Given the description of an element on the screen output the (x, y) to click on. 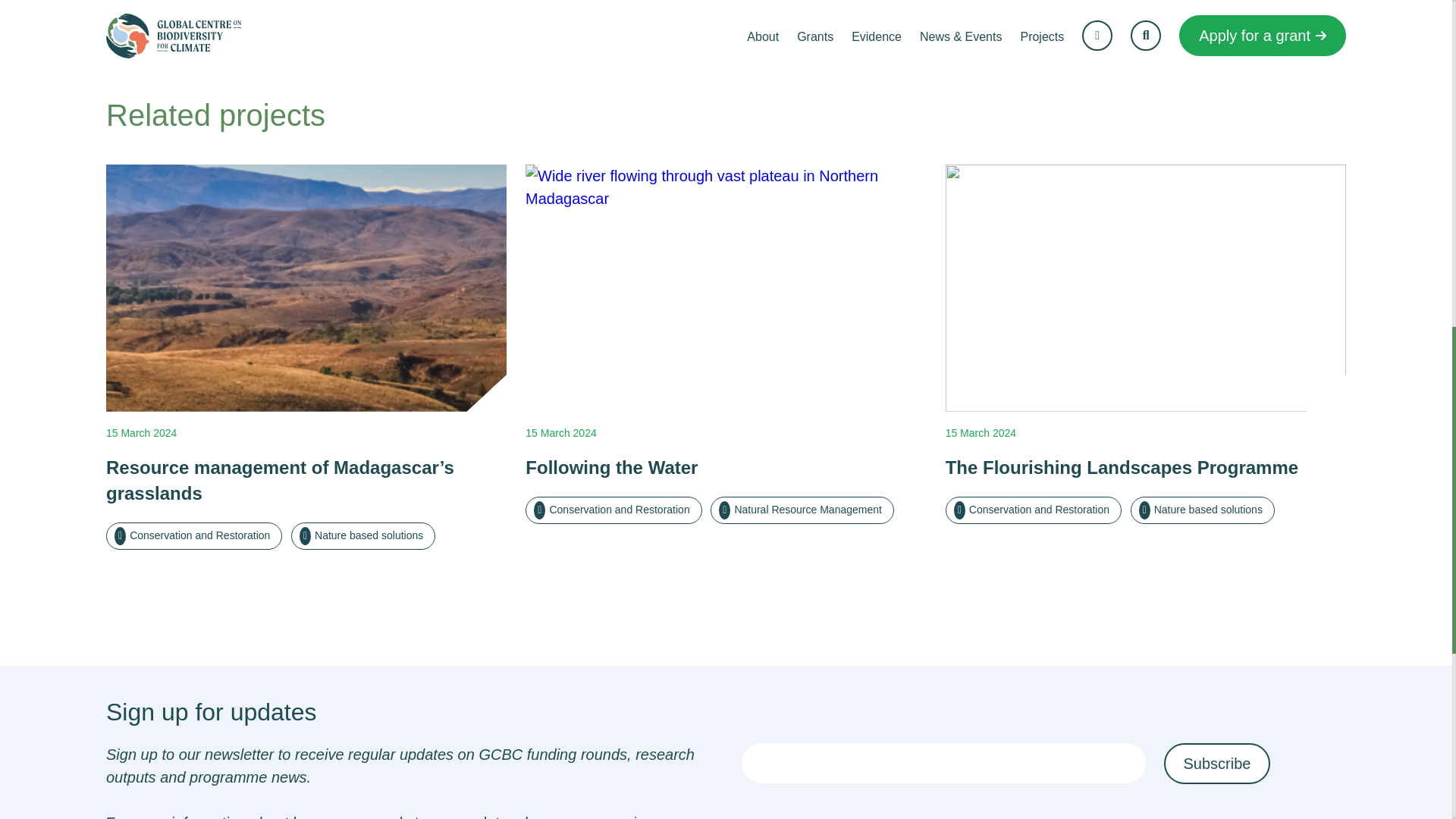
Following the Water (725, 467)
Conservation and Restoration (194, 535)
Natural Resource Management (801, 510)
Nature based solutions (363, 535)
Conservation and Restoration (613, 510)
Subscribe (1216, 762)
